Given the description of an element on the screen output the (x, y) to click on. 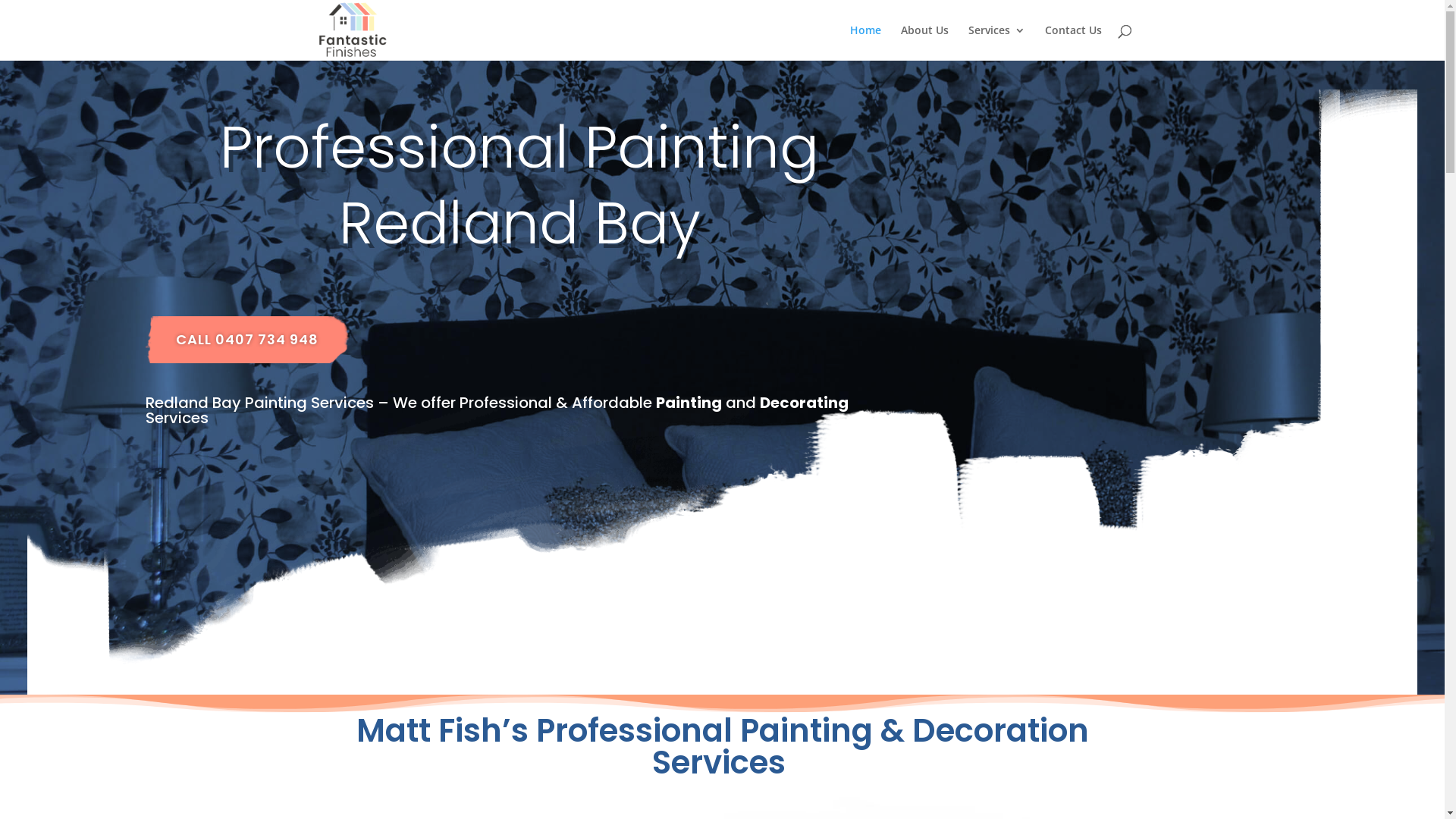
Services Element type: text (995, 42)
Contact Us Element type: text (1072, 42)
About Us Element type: text (924, 42)
Home Element type: text (864, 42)
CALL 0407 734 948 Element type: text (246, 340)
